Given the description of an element on the screen output the (x, y) to click on. 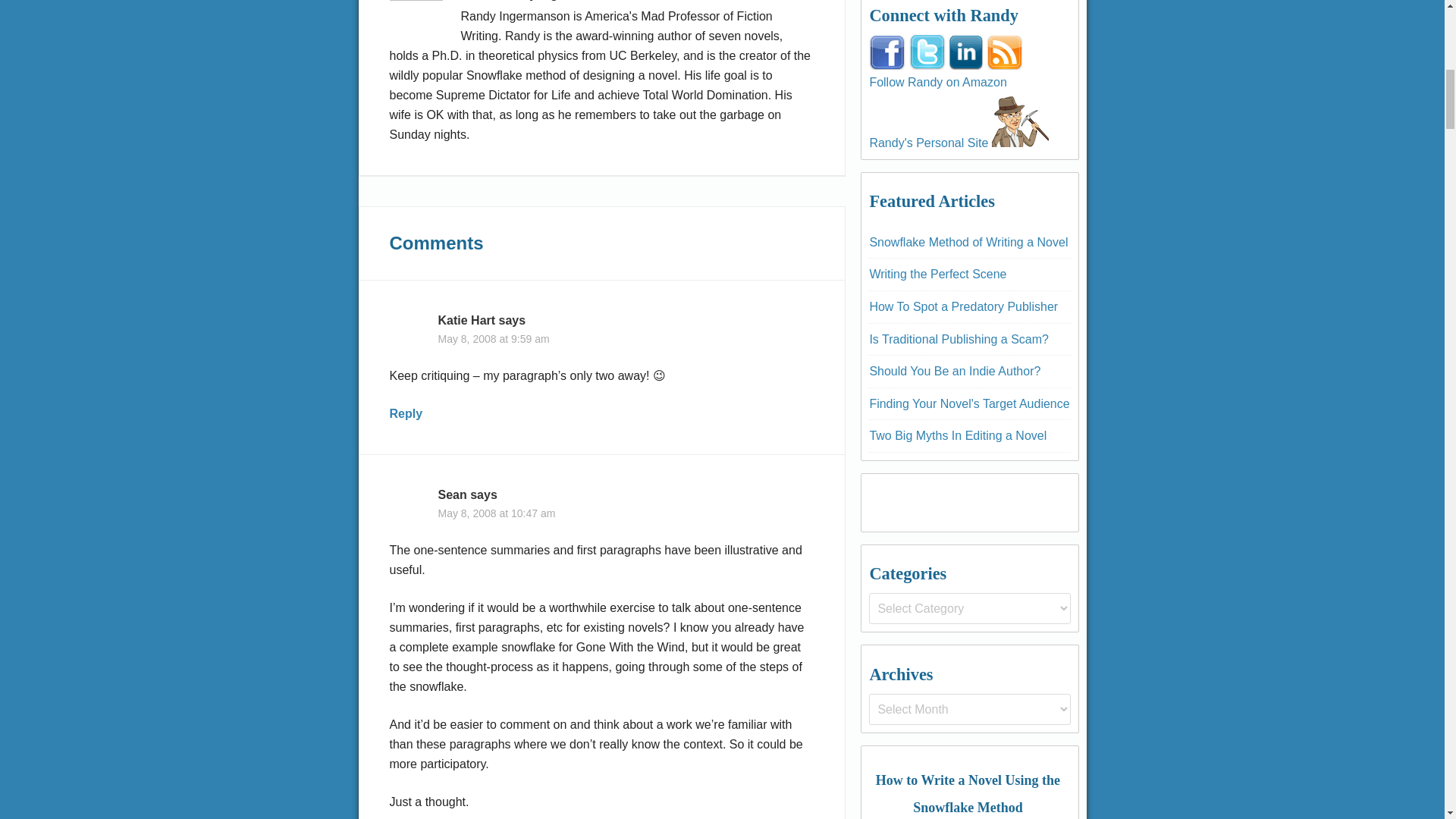
Subscribe by RSS (1005, 52)
Connect on LinkedIn (965, 52)
Follow on Twitter (926, 52)
Like on Facebook (887, 52)
Randy's Personal Site (1019, 118)
